Given the description of an element on the screen output the (x, y) to click on. 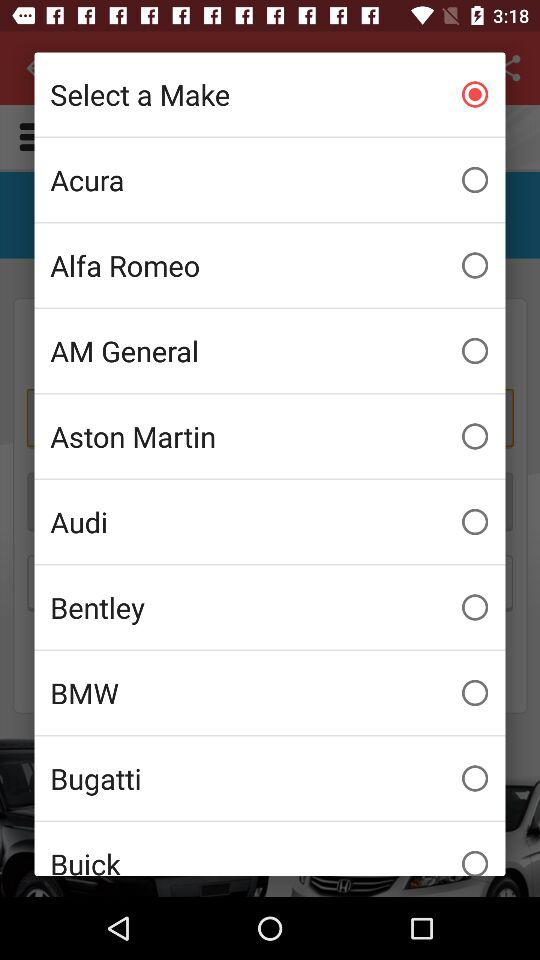
scroll until the aston martin (269, 436)
